Given the description of an element on the screen output the (x, y) to click on. 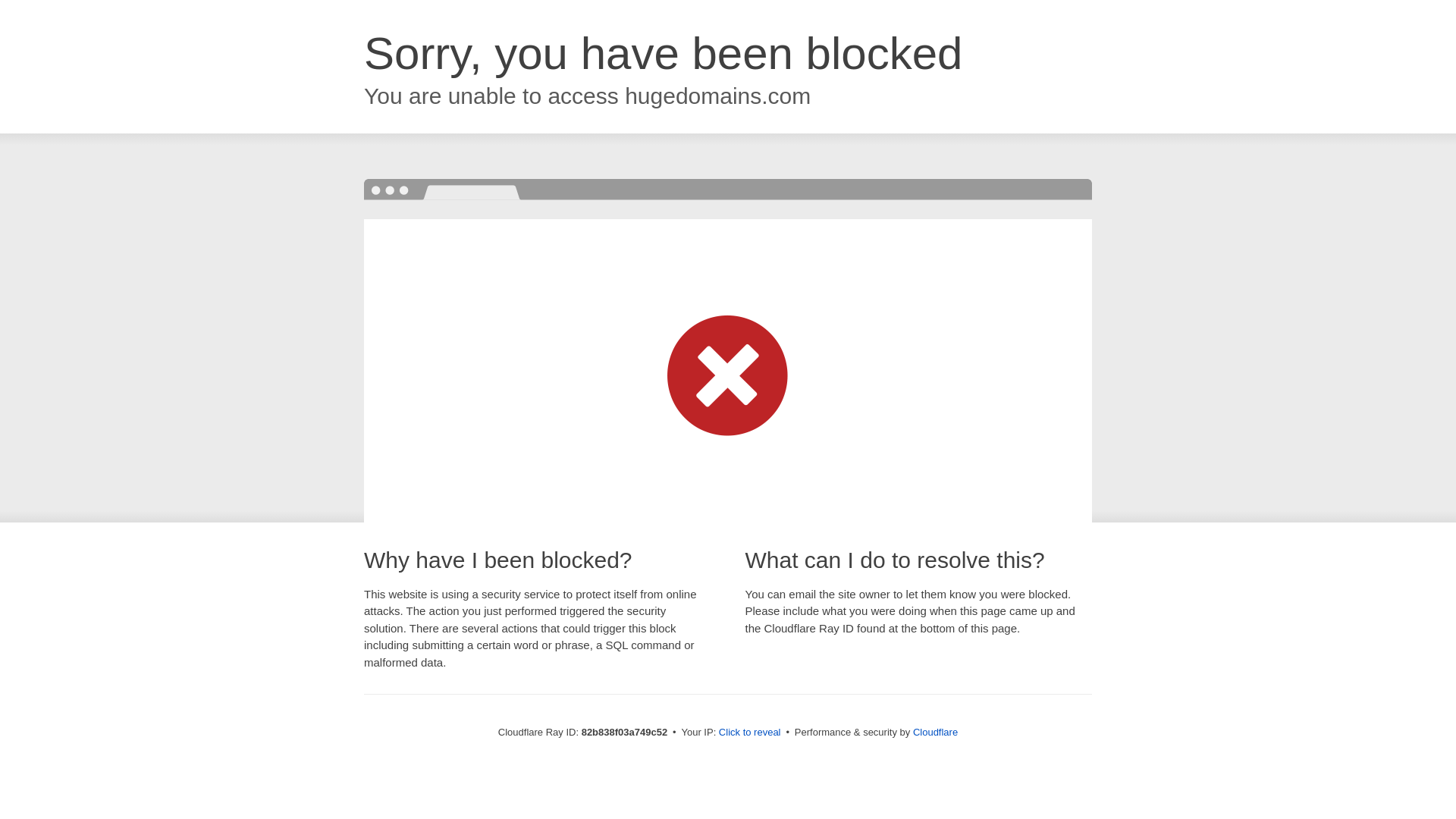
Click to reveal Element type: text (749, 732)
Cloudflare Element type: text (935, 731)
